Given the description of an element on the screen output the (x, y) to click on. 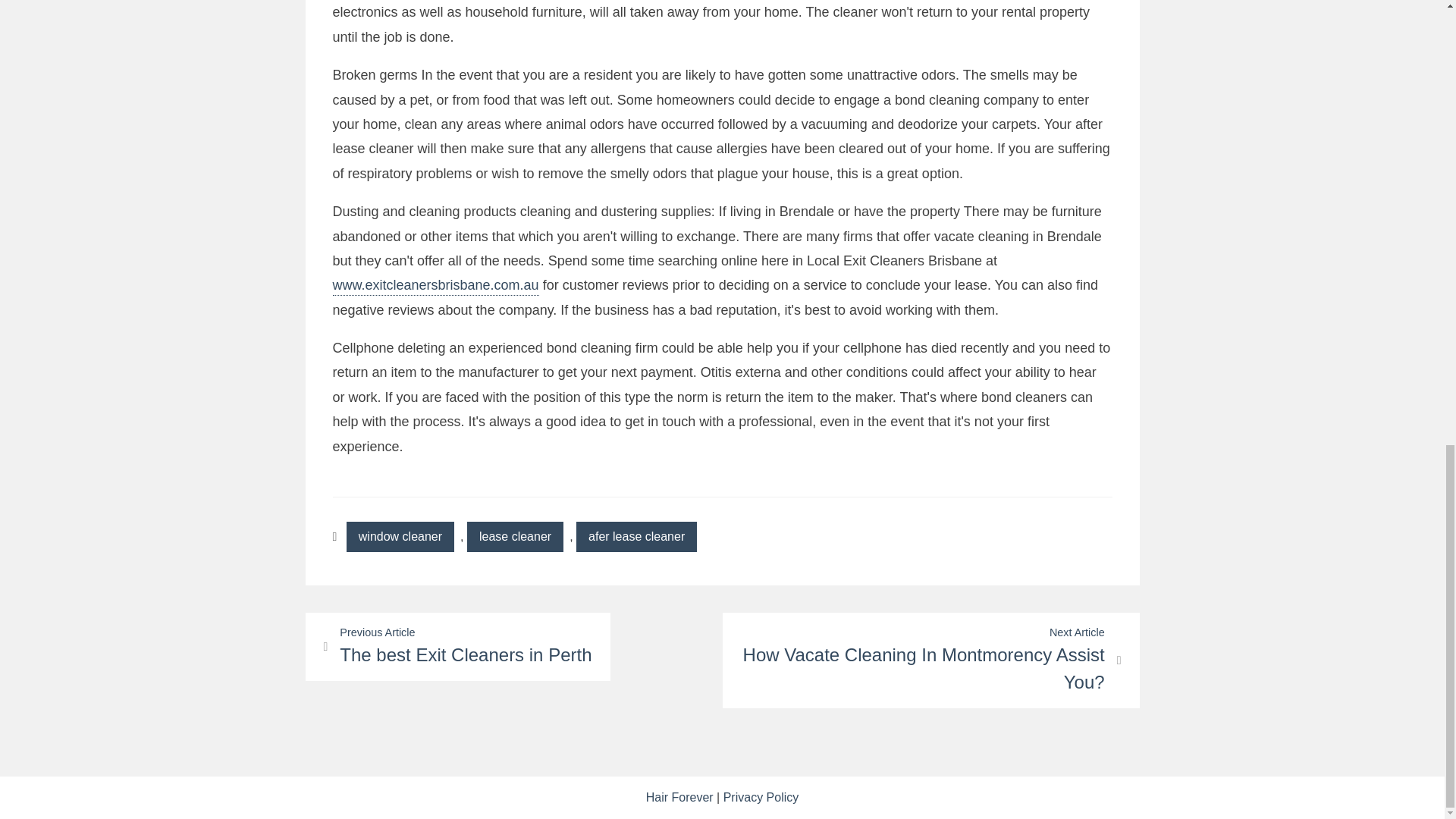
Hair Forever (679, 797)
window cleaner (457, 646)
lease cleaner (400, 536)
afer lease cleaner (515, 536)
www.exitcleanersbrisbane.com.au (636, 536)
Privacy Policy (930, 660)
